Given the description of an element on the screen output the (x, y) to click on. 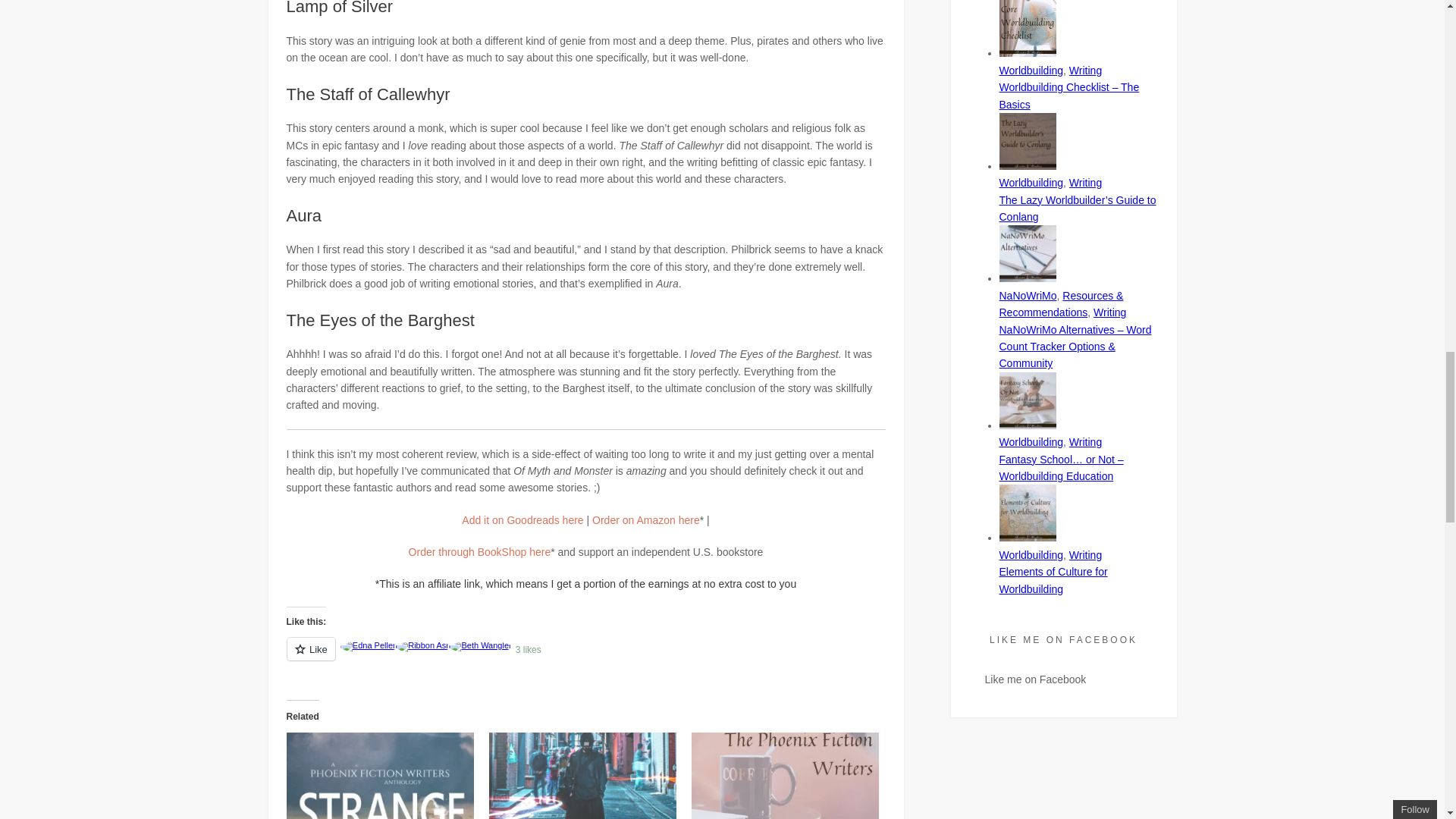
Book Review: Antiheroes by Phoenix Fiction Writers (583, 775)
Order on Amazon here (646, 520)
Like or Reblog (585, 657)
Book Review: Strange Waters by Phoenix Fiction Writers (380, 775)
Add it on Goodreads here (522, 520)
Interview with the Phoenix Fiction Writers (785, 775)
